Given the description of an element on the screen output the (x, y) to click on. 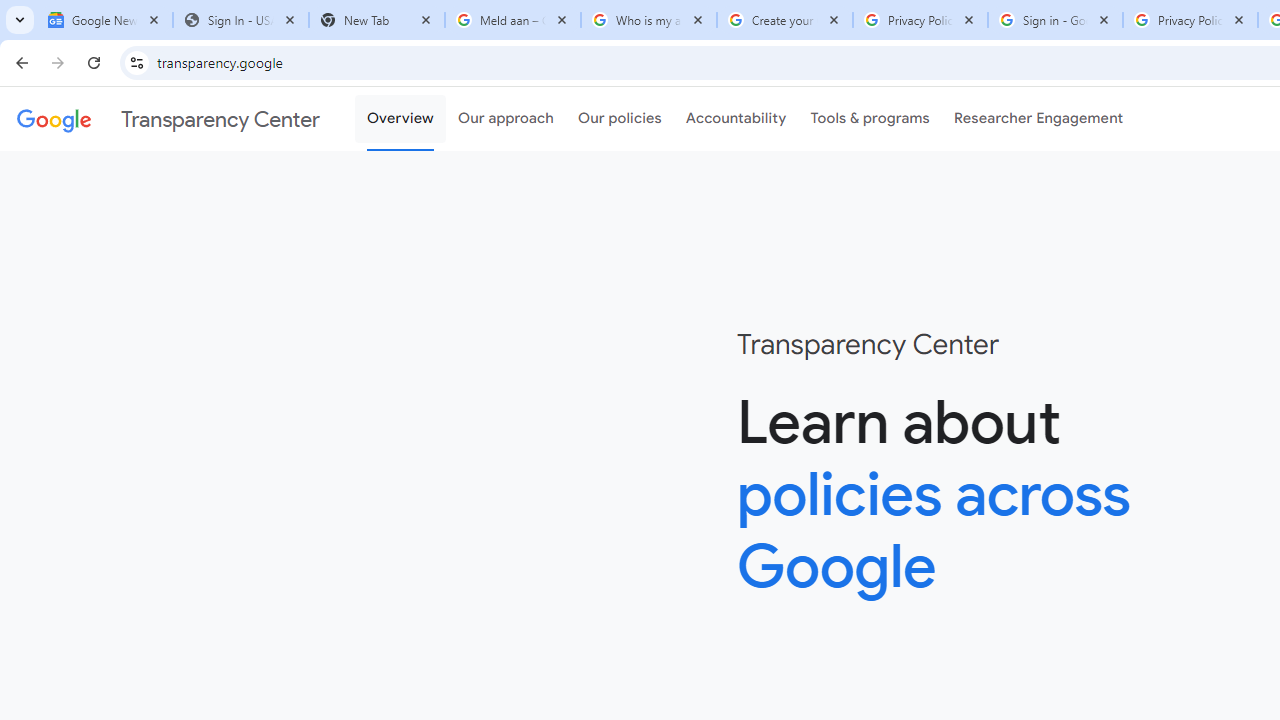
Tools & programs (869, 119)
Researcher Engagement (1038, 119)
Our policies (619, 119)
